Given the description of an element on the screen output the (x, y) to click on. 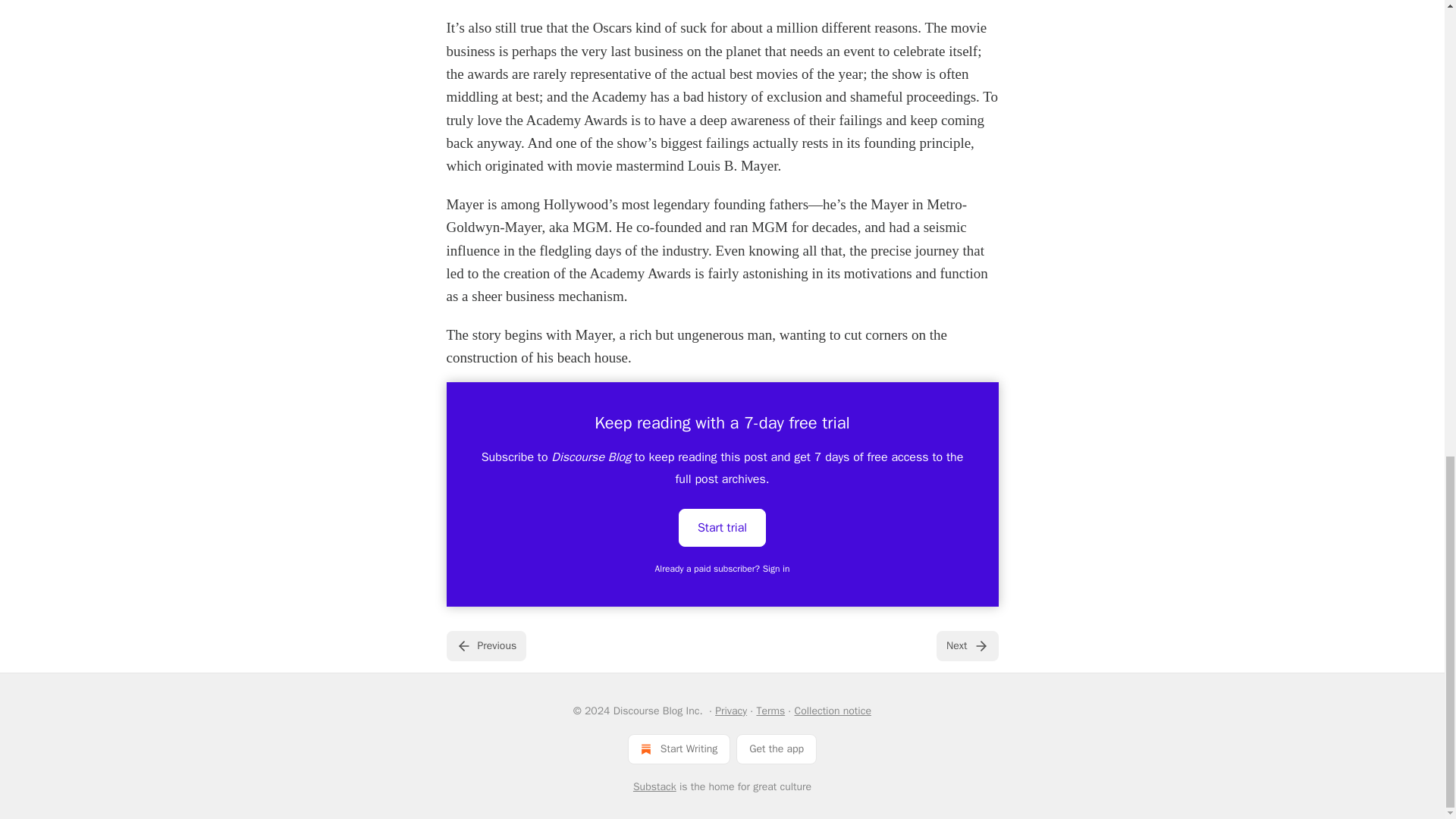
Start trial (721, 526)
Start trial (721, 527)
Start Writing (678, 748)
Next (966, 645)
Previous (485, 645)
Get the app (776, 748)
Substack (655, 786)
Privacy (730, 710)
Collection notice (831, 710)
Terms (769, 710)
Already a paid subscriber? Sign in (722, 568)
